Given the description of an element on the screen output the (x, y) to click on. 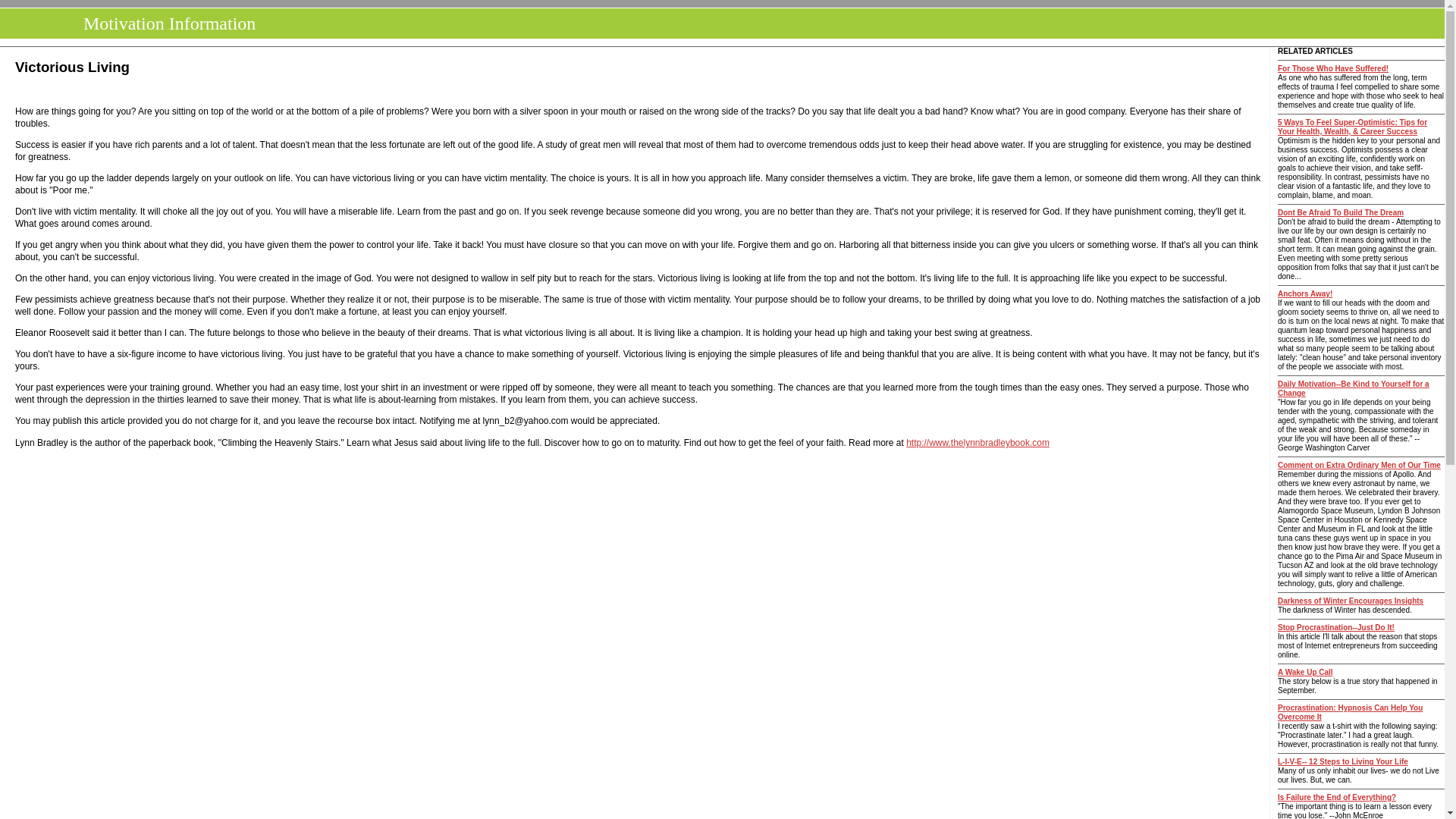
Dont Be Afraid To Build The Dream (1340, 212)
Motivation Information (165, 23)
L-I-V-E-- 12 Steps to Living Your Life (1342, 761)
Procrastination: Hypnosis Can Help You Overcome It (1350, 712)
Daily Motivation--Be Kind to Yourself for a Change (1353, 388)
Anchors Away! (1305, 293)
Darkness of Winter Encourages Insights (1350, 601)
Stop Procrastination--Just Do It! (1336, 627)
Is Failure the End of Everything? (1337, 797)
Comment on Extra Ordinary Men of Our Time (1359, 465)
